Given the description of an element on the screen output the (x, y) to click on. 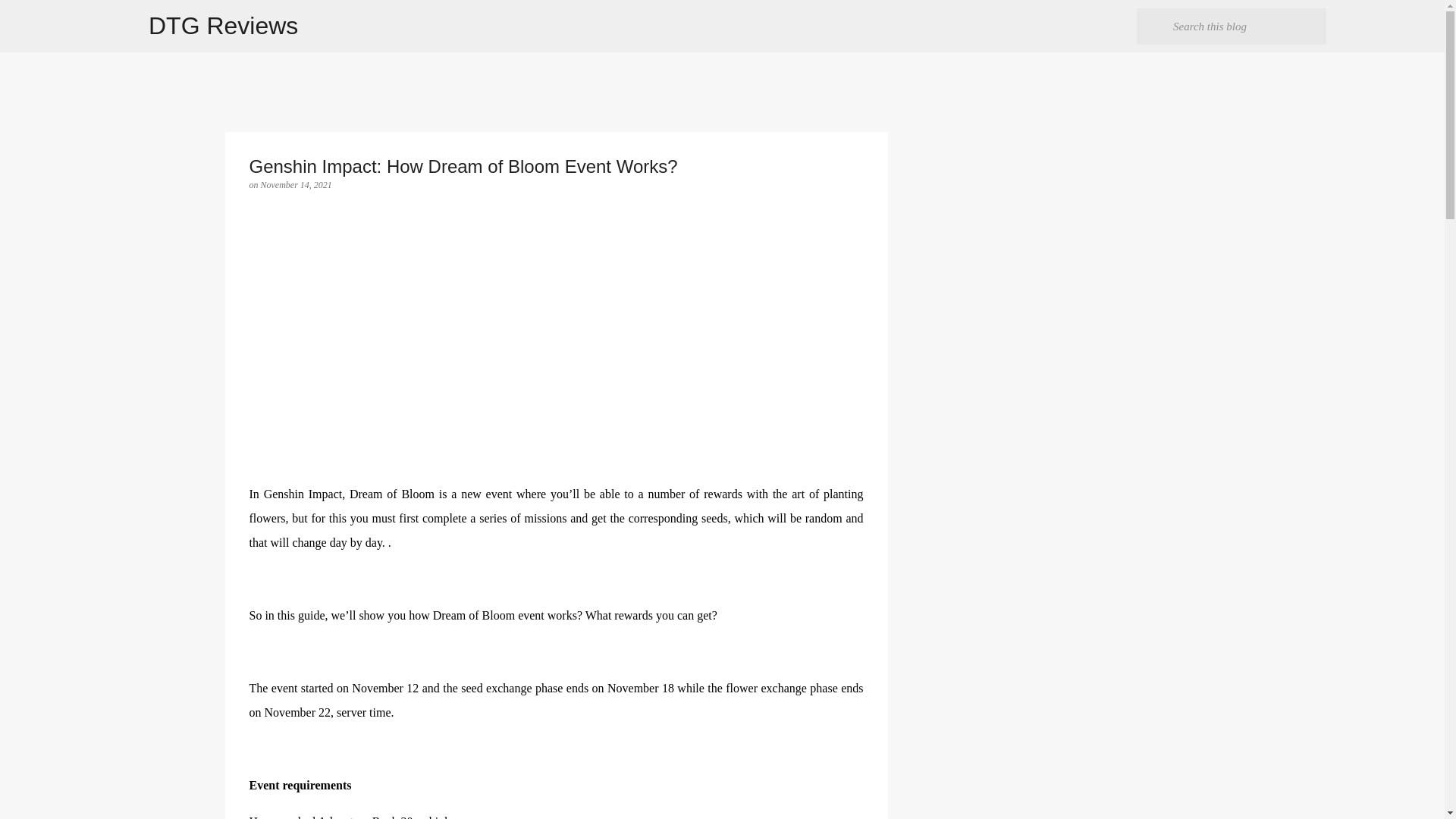
permanent link (295, 184)
November 14, 2021 (295, 184)
DTG Reviews (223, 25)
